Given the description of an element on the screen output the (x, y) to click on. 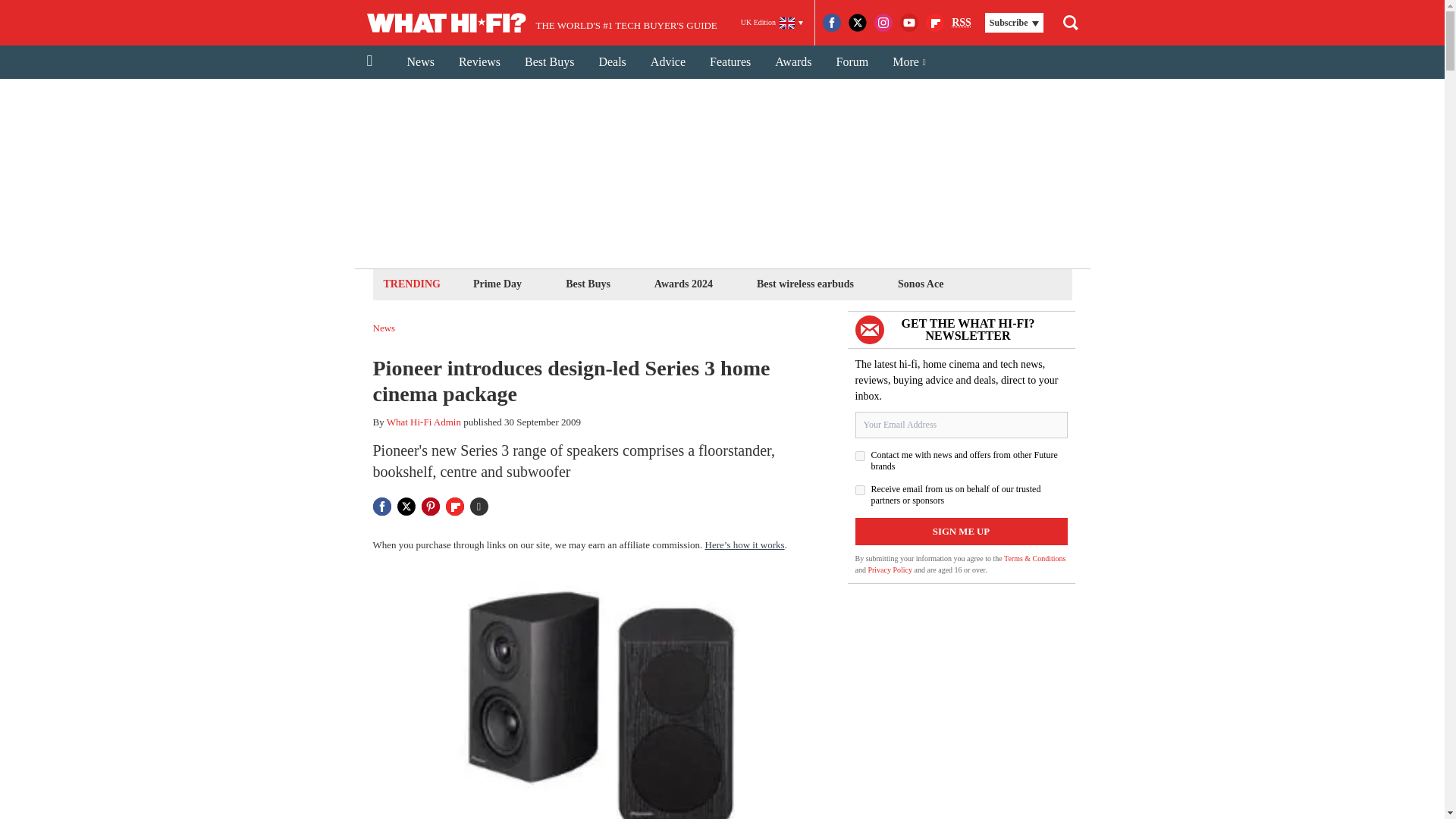
Really Simple Syndication (961, 21)
Sign me up (961, 531)
Best Buys (587, 283)
Prime Day (497, 283)
Best wireless earbuds (805, 283)
UK Edition (771, 22)
Best Buys (549, 61)
Awards 2024 (683, 283)
RSS (961, 22)
Reviews (479, 61)
News (419, 61)
Sonos Ace (920, 283)
Features (729, 61)
Forum (852, 61)
Advice (668, 61)
